Given the description of an element on the screen output the (x, y) to click on. 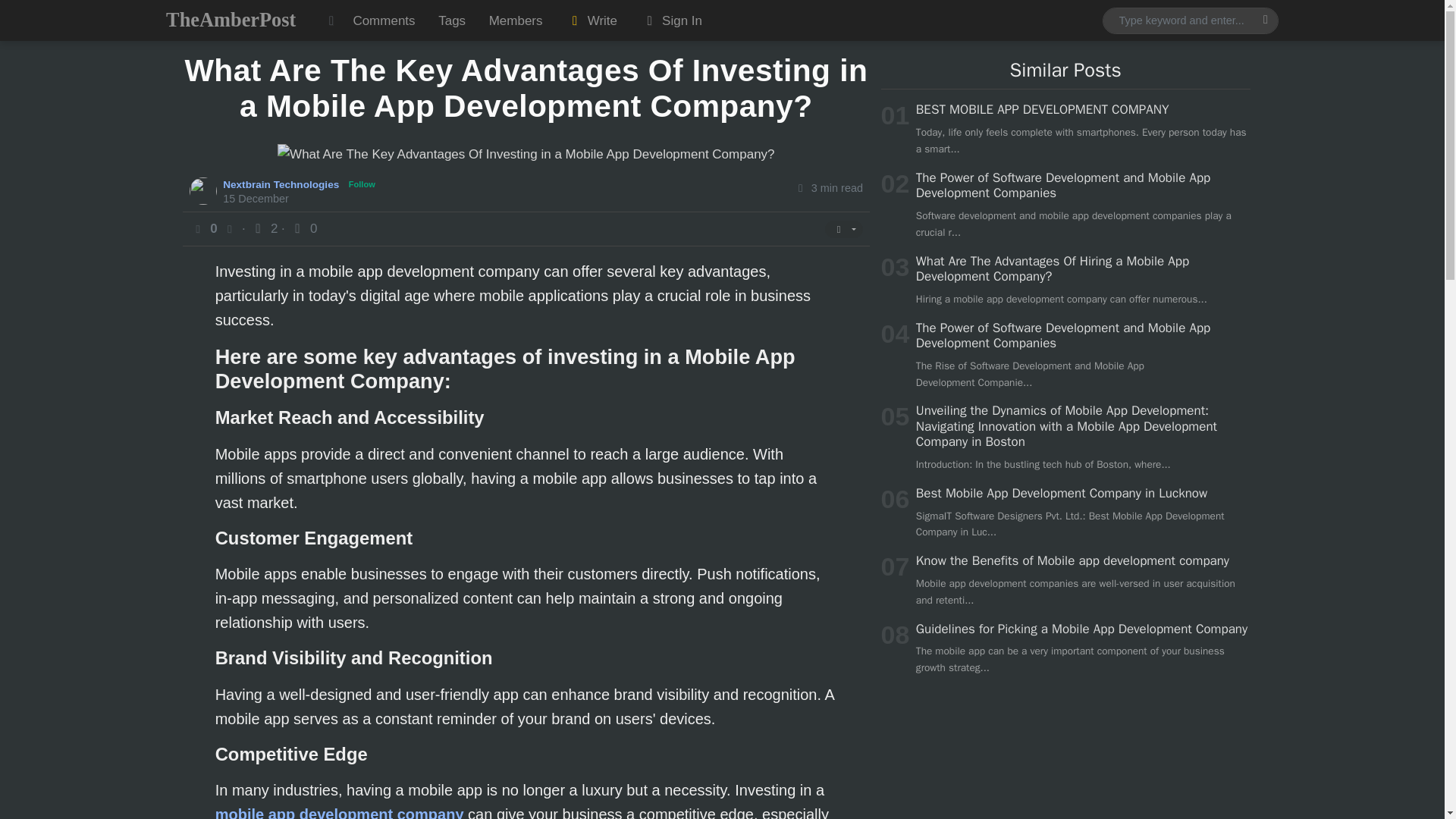
Follow (361, 184)
Nextbrain Technologies (282, 183)
0 (302, 228)
mobile app development company (339, 812)
Views (264, 228)
Toggle dark mode (330, 20)
Comments (383, 20)
